Given the description of an element on the screen output the (x, y) to click on. 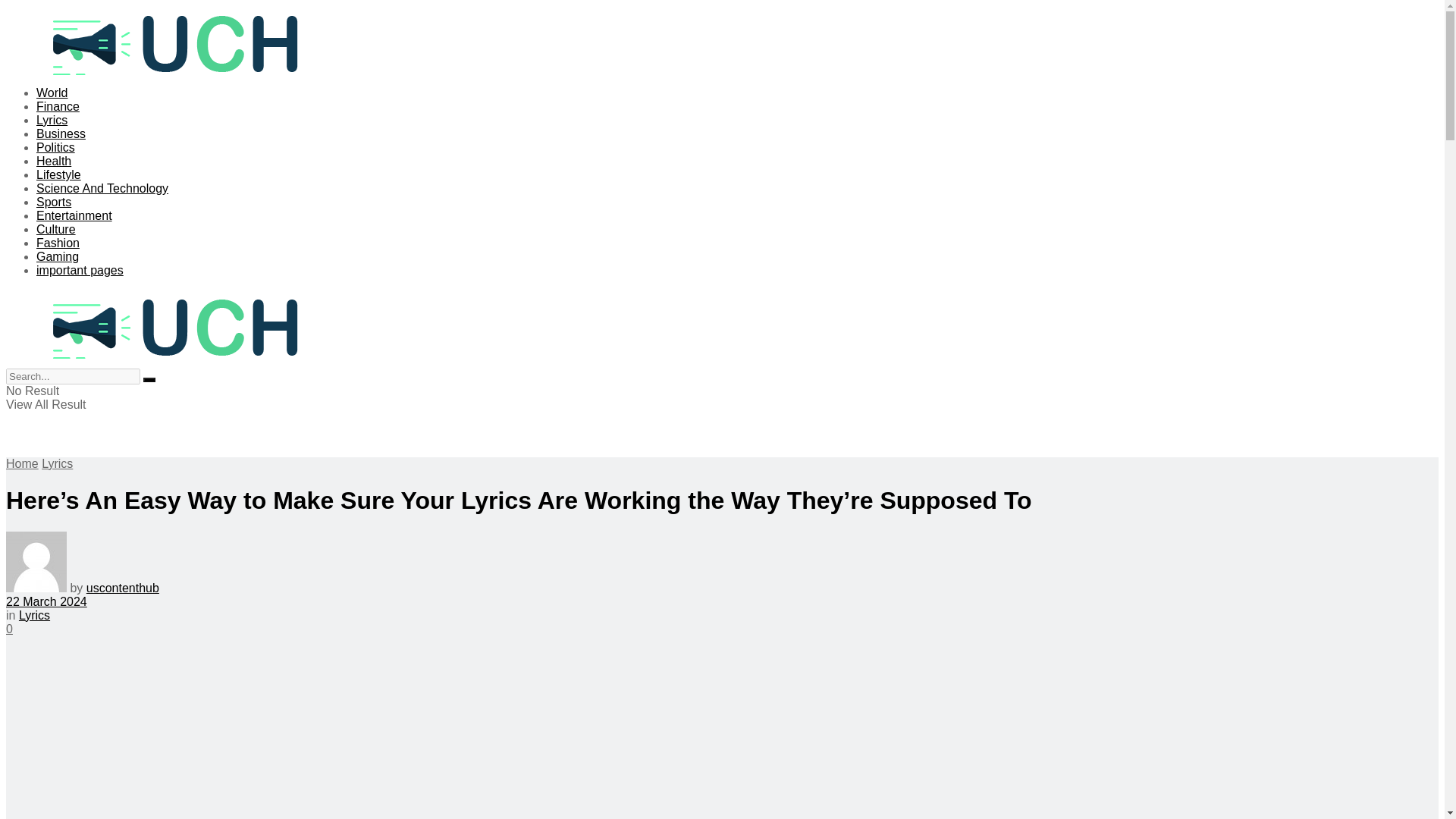
Lyrics (57, 463)
Fashion (58, 242)
Sports (53, 201)
Business (60, 133)
Entertainment (74, 215)
Science And Technology (102, 187)
Lifestyle (58, 174)
Home (22, 463)
uscontenthub (121, 587)
Politics (55, 146)
Health (53, 160)
Culture (55, 228)
Finance (58, 106)
Lyrics (51, 119)
Lyrics (33, 615)
